Given the description of an element on the screen output the (x, y) to click on. 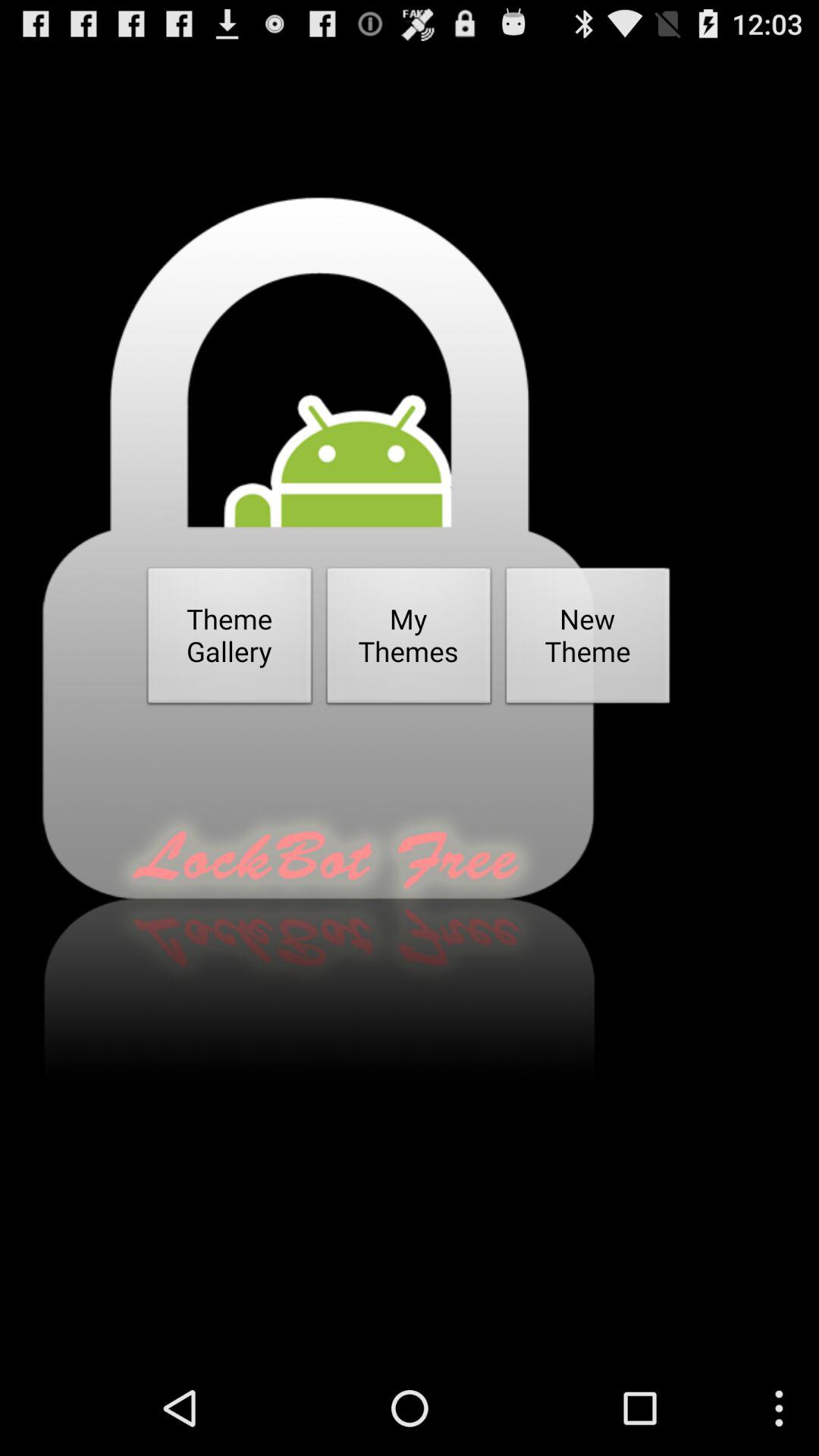
click item to the right of the my themes item (587, 639)
